Given the description of an element on the screen output the (x, y) to click on. 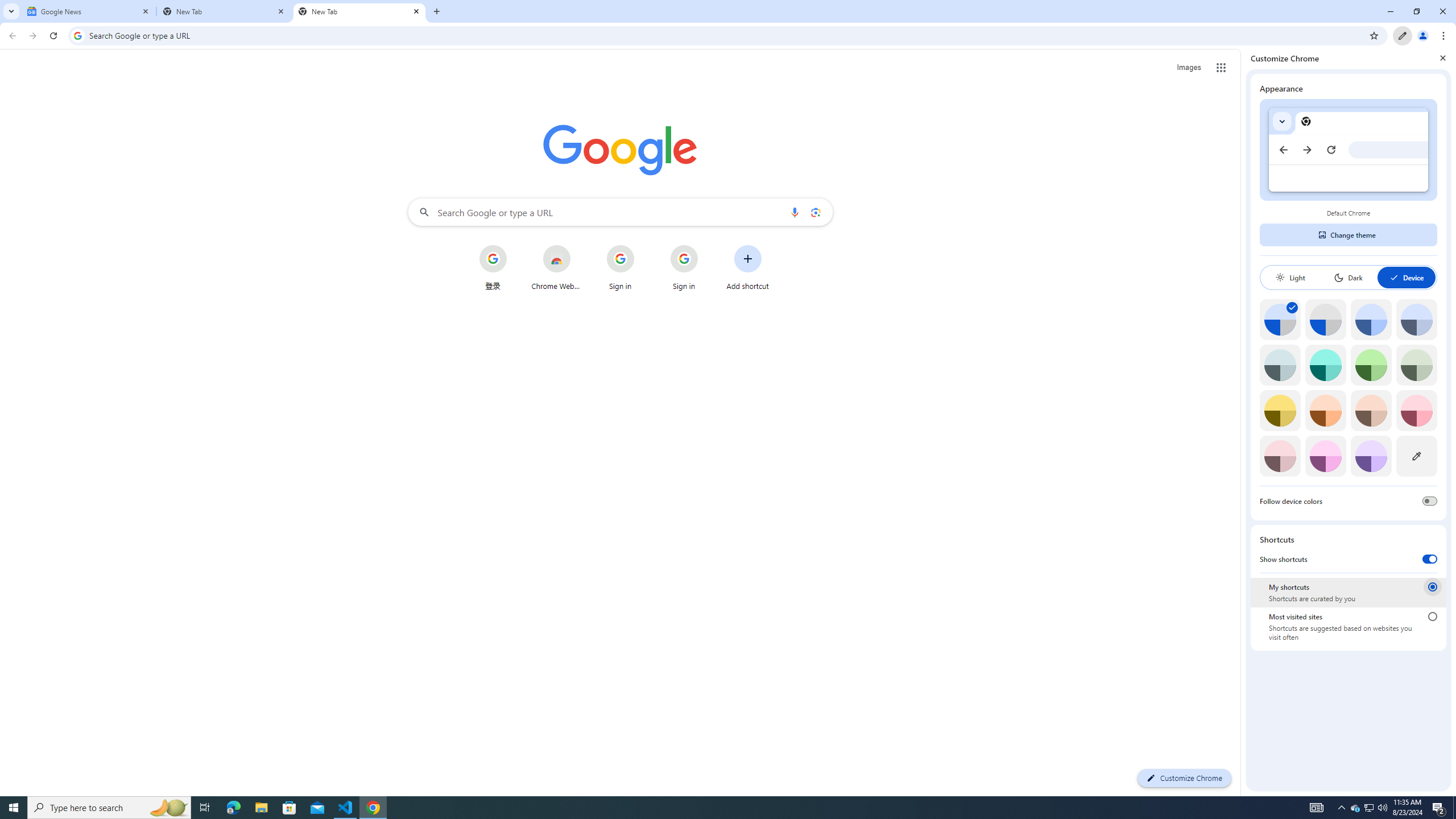
More actions for Sign in shortcut (706, 245)
AutomationID: baseSvg (1394, 276)
Show shortcuts (1429, 558)
Search Google or type a URL (619, 212)
Pink (1279, 455)
Custom color (1416, 455)
Fuchsia (1325, 455)
Orange (1325, 409)
Chrome Web Store (556, 267)
